Given the description of an element on the screen output the (x, y) to click on. 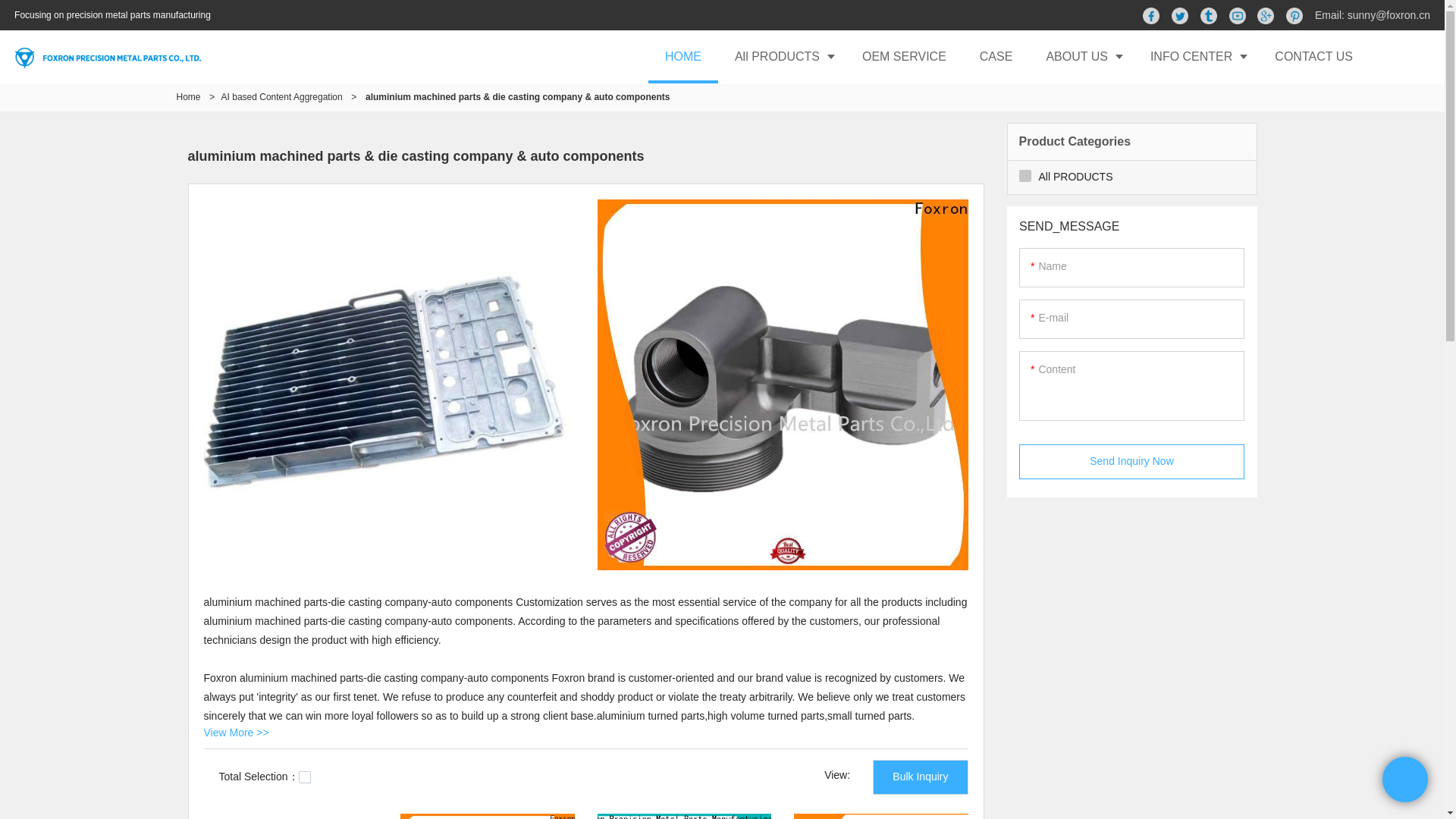
HOME (682, 56)
on (304, 776)
CONTACT US (1313, 56)
Email: (1331, 15)
AI based Content Aggregation (281, 96)
INFO CENTER (1195, 56)
Home (188, 96)
ABOUT US (1081, 56)
OEM SERVICE (903, 56)
CASE (995, 56)
All PRODUCTS (781, 56)
